Given the description of an element on the screen output the (x, y) to click on. 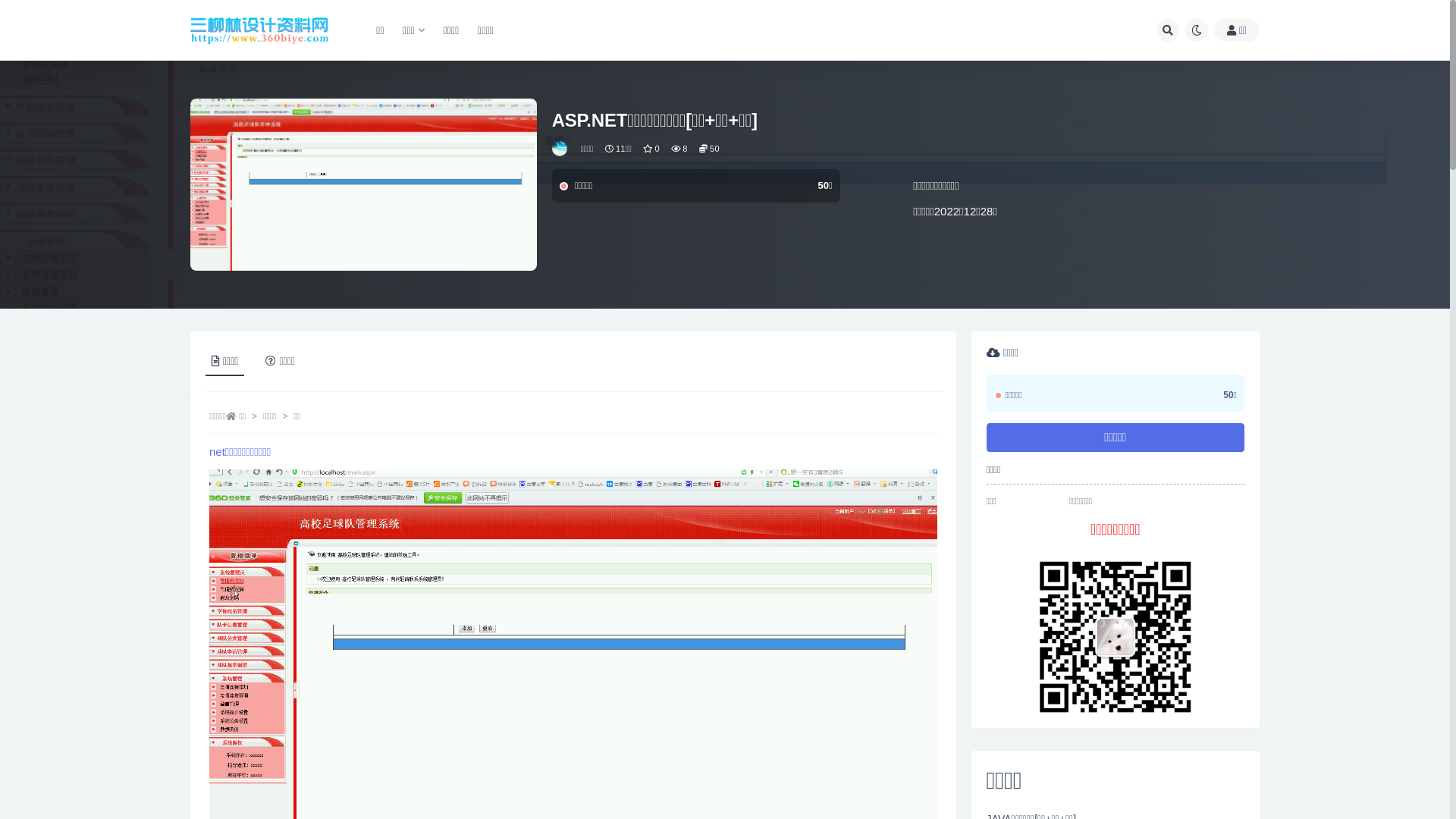
admin Element type: hover (560, 148)
